Given the description of an element on the screen output the (x, y) to click on. 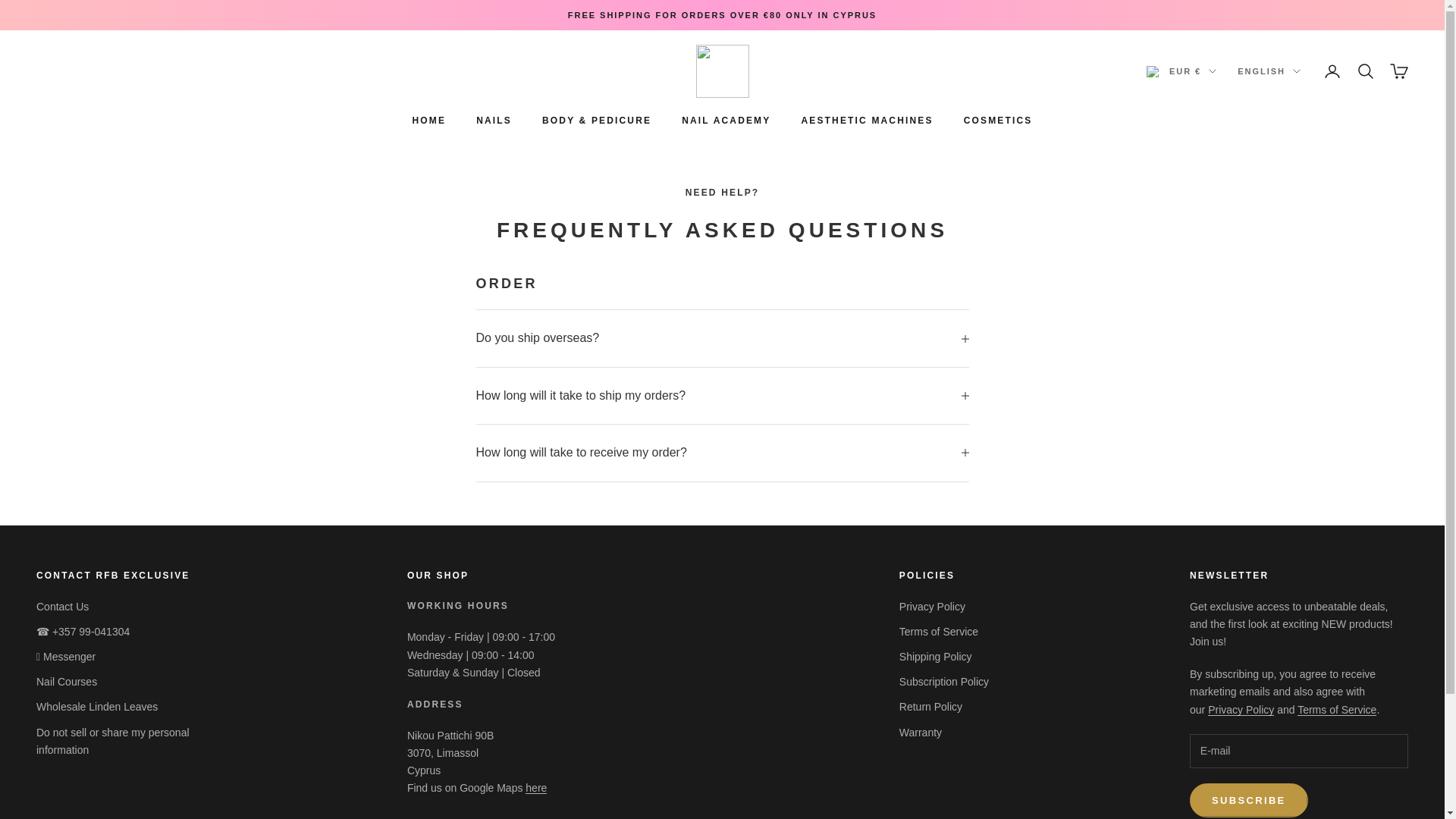
HOME (429, 120)
Privacy Policy (1241, 709)
Terms Of Service (1336, 709)
RFB Exclusive (722, 71)
RFB Exclusive Shop (536, 787)
